Given the description of an element on the screen output the (x, y) to click on. 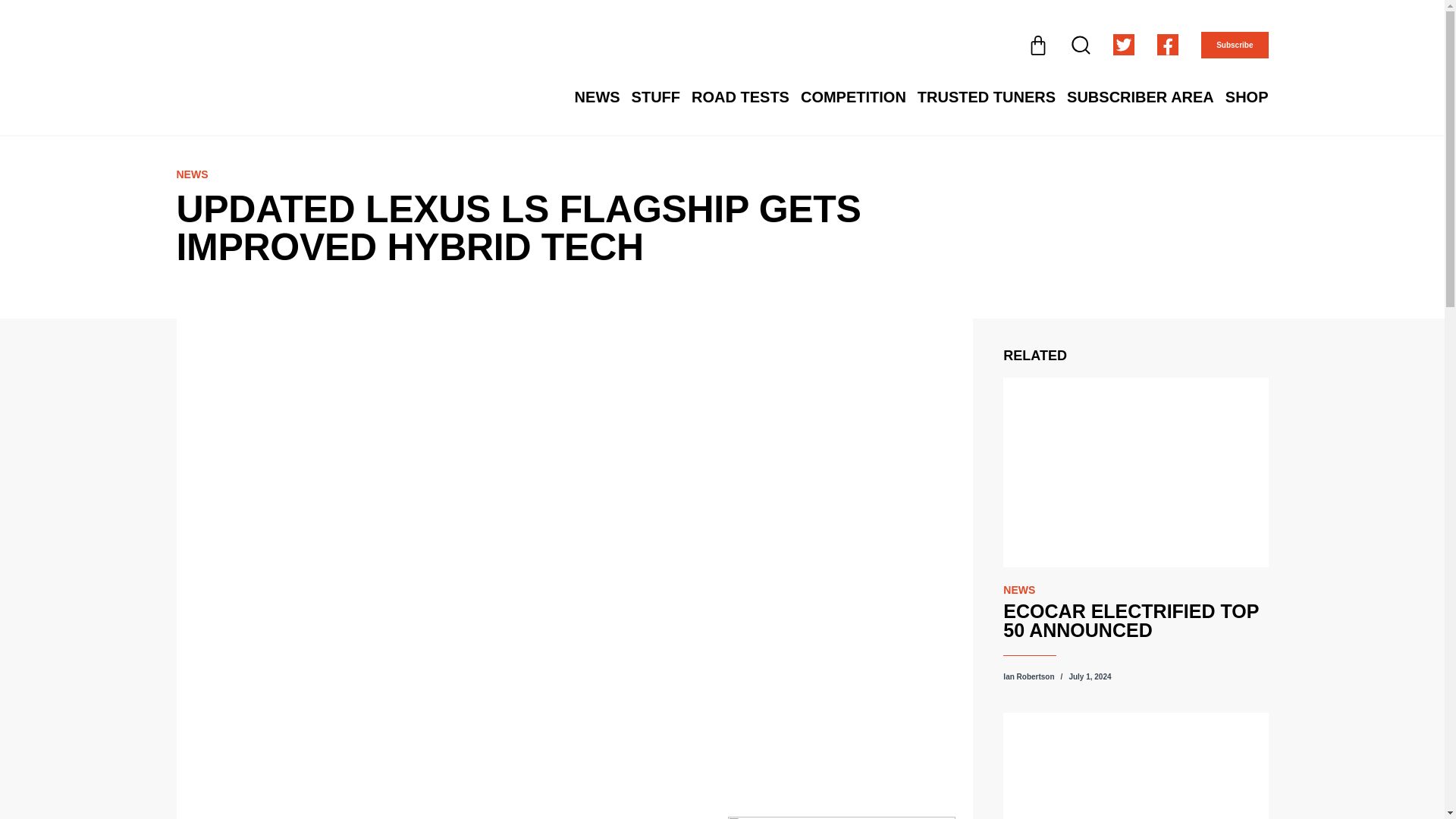
COMPETITION (852, 96)
TRUSTED TUNERS (986, 96)
Subscribe (1234, 44)
ROAD TESTS (740, 96)
SUBSCRIBER AREA (1140, 96)
STUFF (655, 96)
SHOP (1246, 96)
NEWS (597, 96)
